Given the description of an element on the screen output the (x, y) to click on. 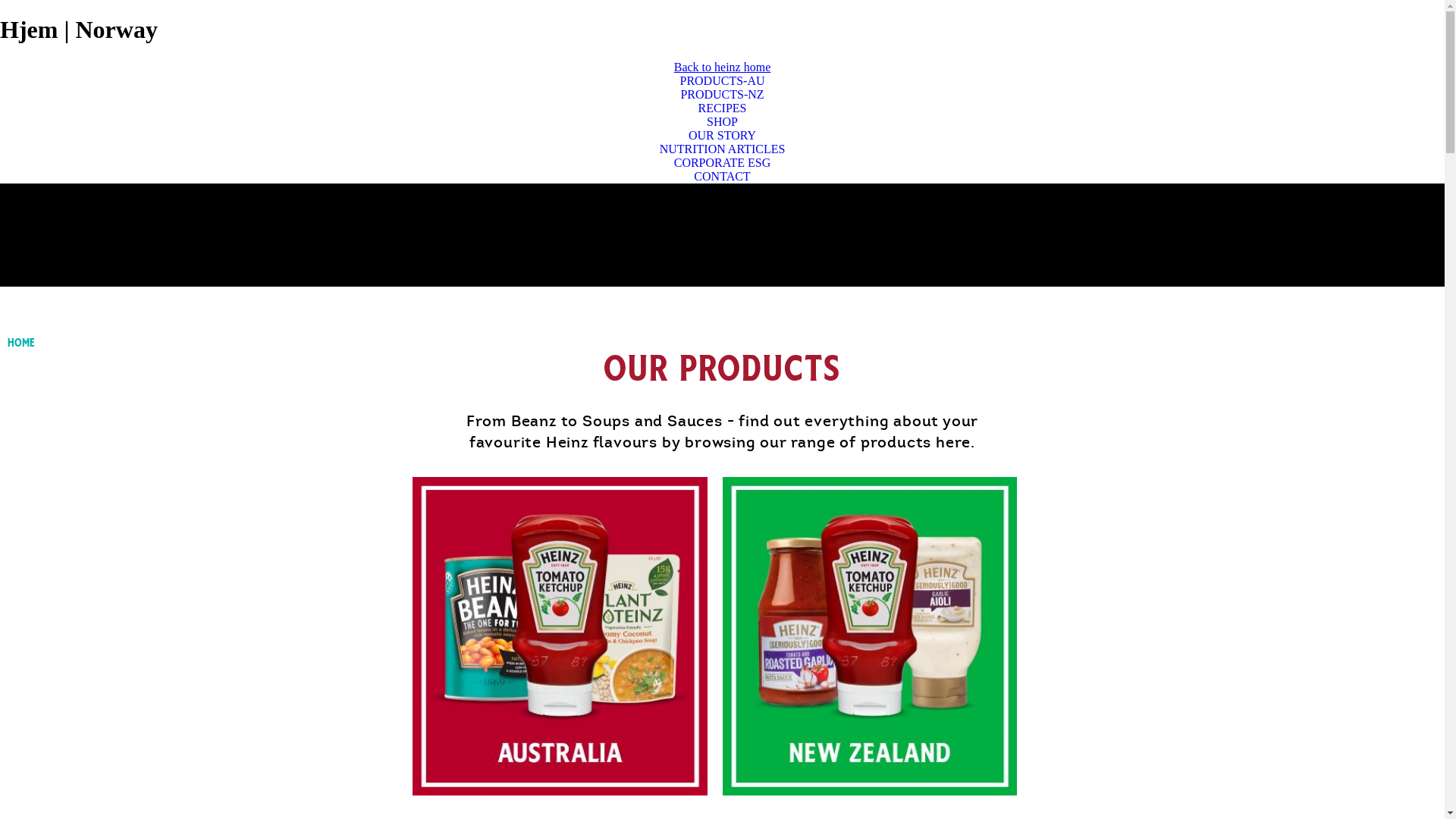
CORPORATE ESG Element type: text (722, 162)
AUProducts Element type: hover (559, 635)
video Logo image Element type: hover (233, 395)
OUR STORY Element type: text (722, 135)
Back to heinz home Element type: text (722, 66)
PRODUCTS-AU Element type: text (722, 80)
PRODUCTS-NZ Element type: text (722, 94)
NZProducts Element type: hover (868, 635)
NUTRITION ARTICLES Element type: text (722, 149)
Home Element type: text (20, 342)
RECIPES Element type: text (722, 108)
SHOP Element type: text (722, 121)
CONTACT Element type: text (722, 176)
